Given the description of an element on the screen output the (x, y) to click on. 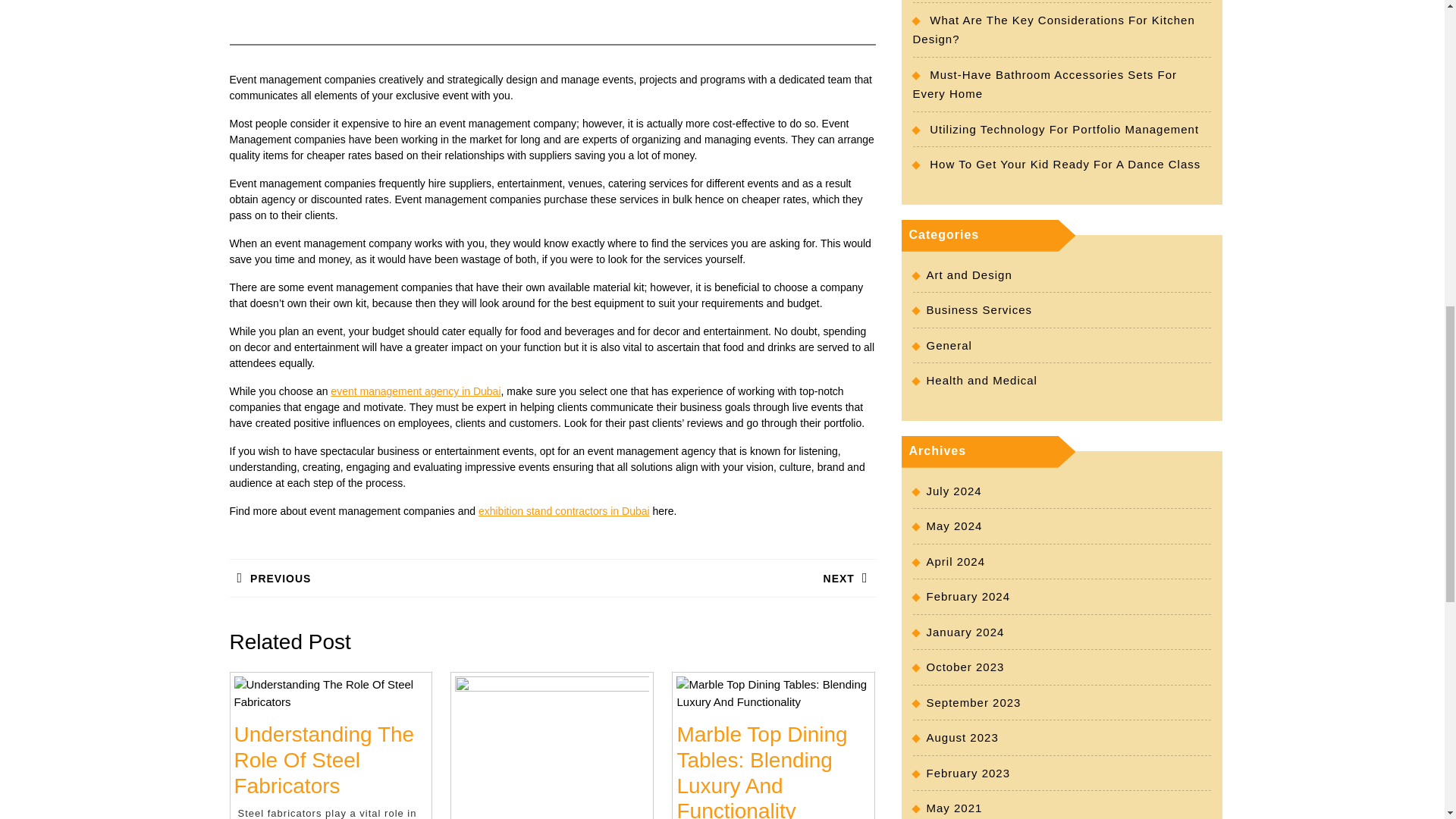
event management agency in Dubai (415, 390)
Utilizing Technology For Portfolio Management (1064, 128)
exhibition stand contractors in Dubai (564, 510)
Must-Have Bathroom Accessories Sets For Every Home (1044, 83)
Marble Top Dining Tables: Blending Luxury And Functionality (389, 577)
Understanding The Role Of Steel Fabricators (762, 770)
